Given the description of an element on the screen output the (x, y) to click on. 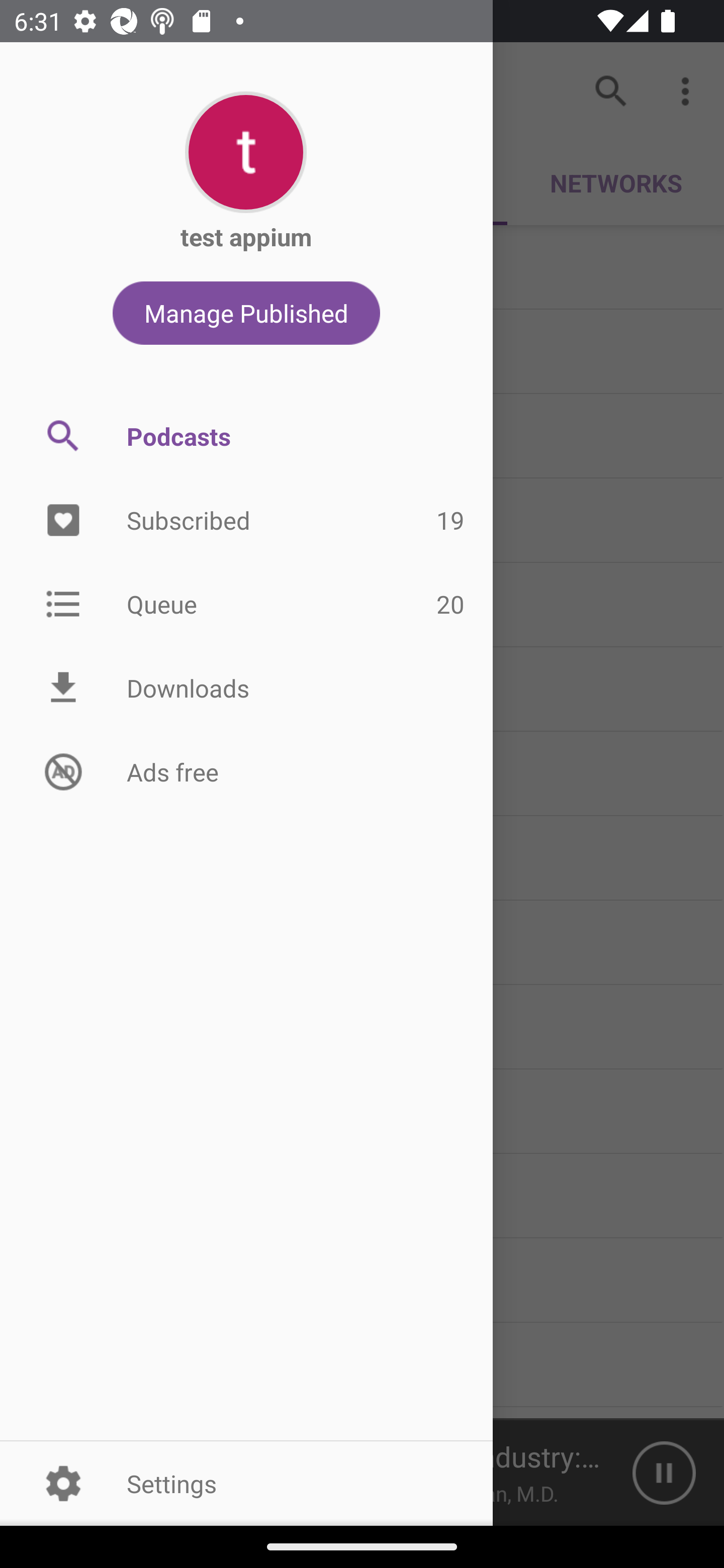
Manage Published (246, 312)
Picture Podcasts (246, 435)
Picture Subscribed 19 (246, 520)
Picture Queue 20 (246, 603)
Picture Downloads (246, 688)
Picture Ads free (246, 771)
Settings Picture Settings (246, 1482)
